Given the description of an element on the screen output the (x, y) to click on. 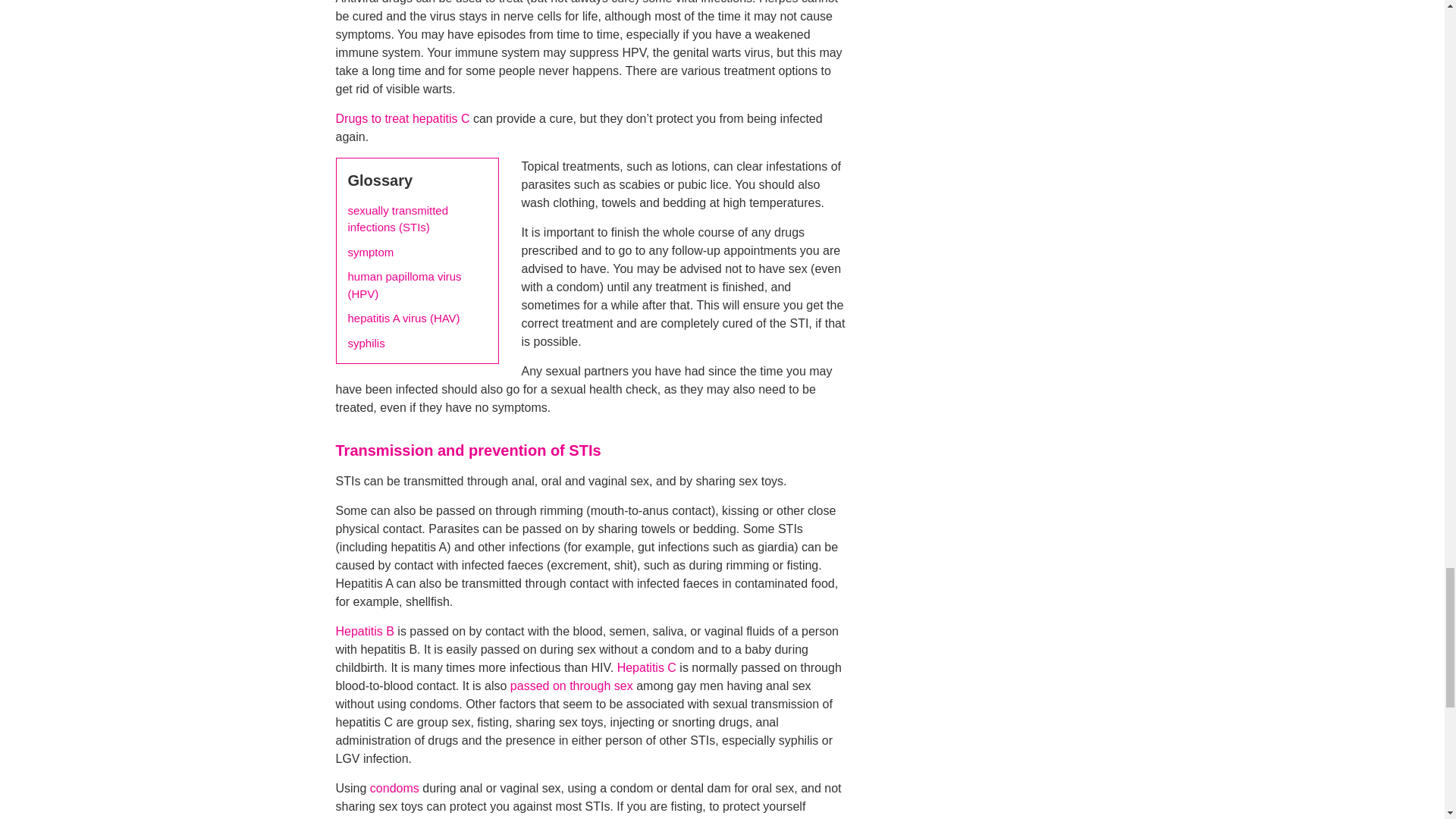
Drugs to treat hepatitis C (401, 118)
symptom (370, 252)
Glossary (379, 180)
